Given the description of an element on the screen output the (x, y) to click on. 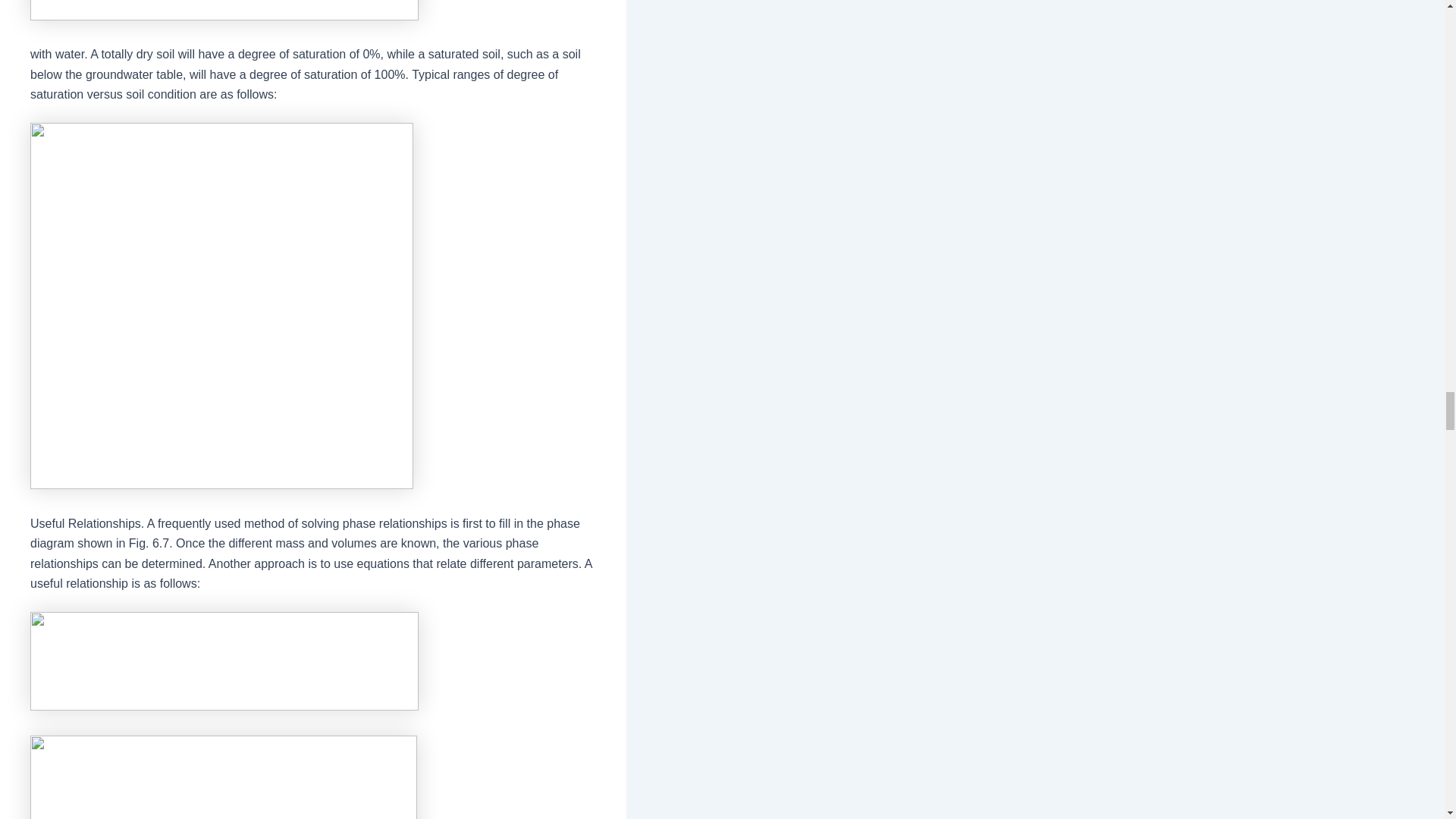
TABLE 6.7 Mass and Volume Relationships (223, 777)
eq 6.6 (224, 10)
eq 6.8 (224, 660)
